Given the description of an element on the screen output the (x, y) to click on. 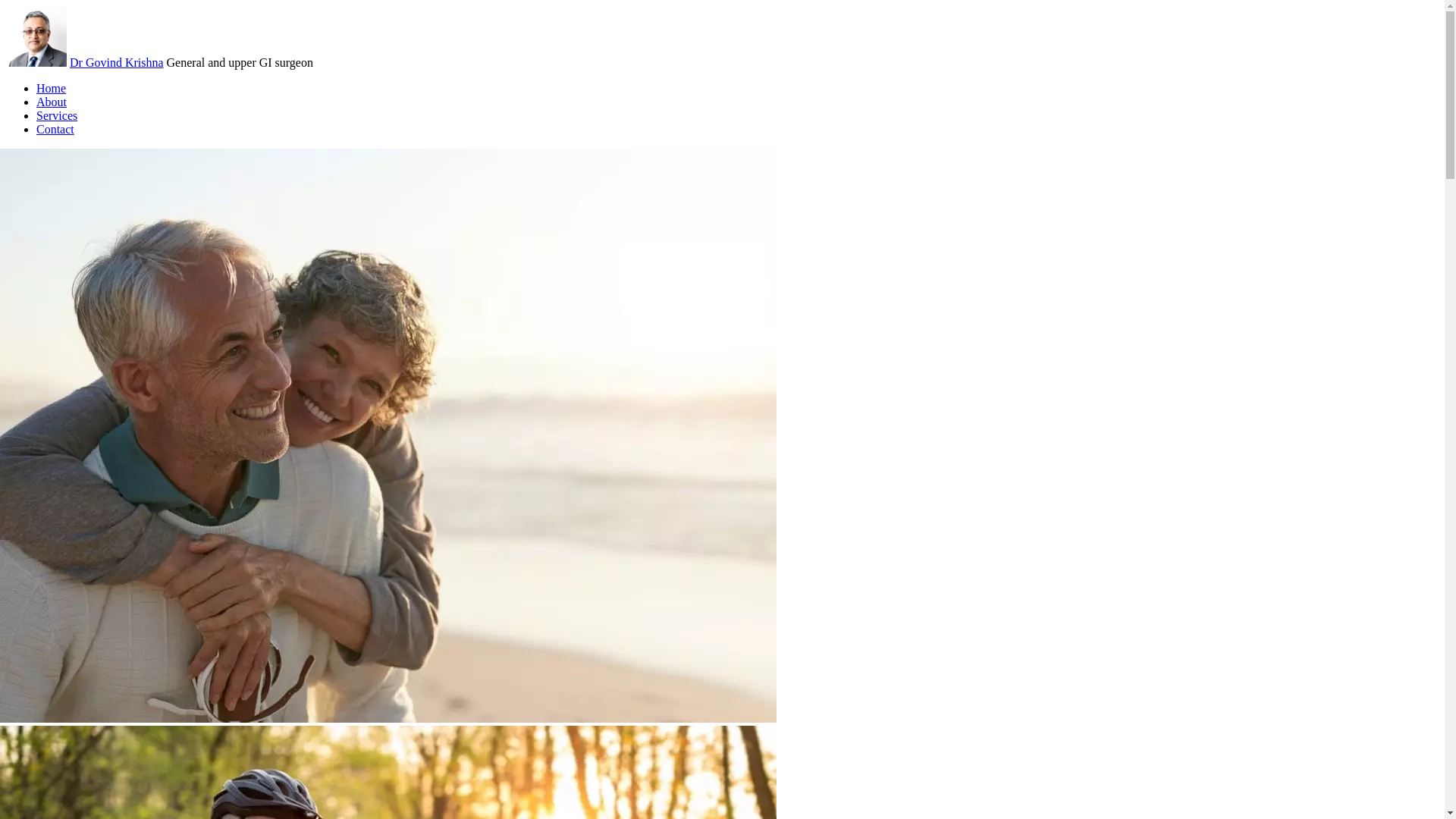
Dr Govind Krishna Element type: text (116, 62)
Services Element type: text (56, 115)
Home Element type: text (50, 87)
About Element type: text (51, 101)
Contact Element type: text (55, 128)
